Given the description of an element on the screen output the (x, y) to click on. 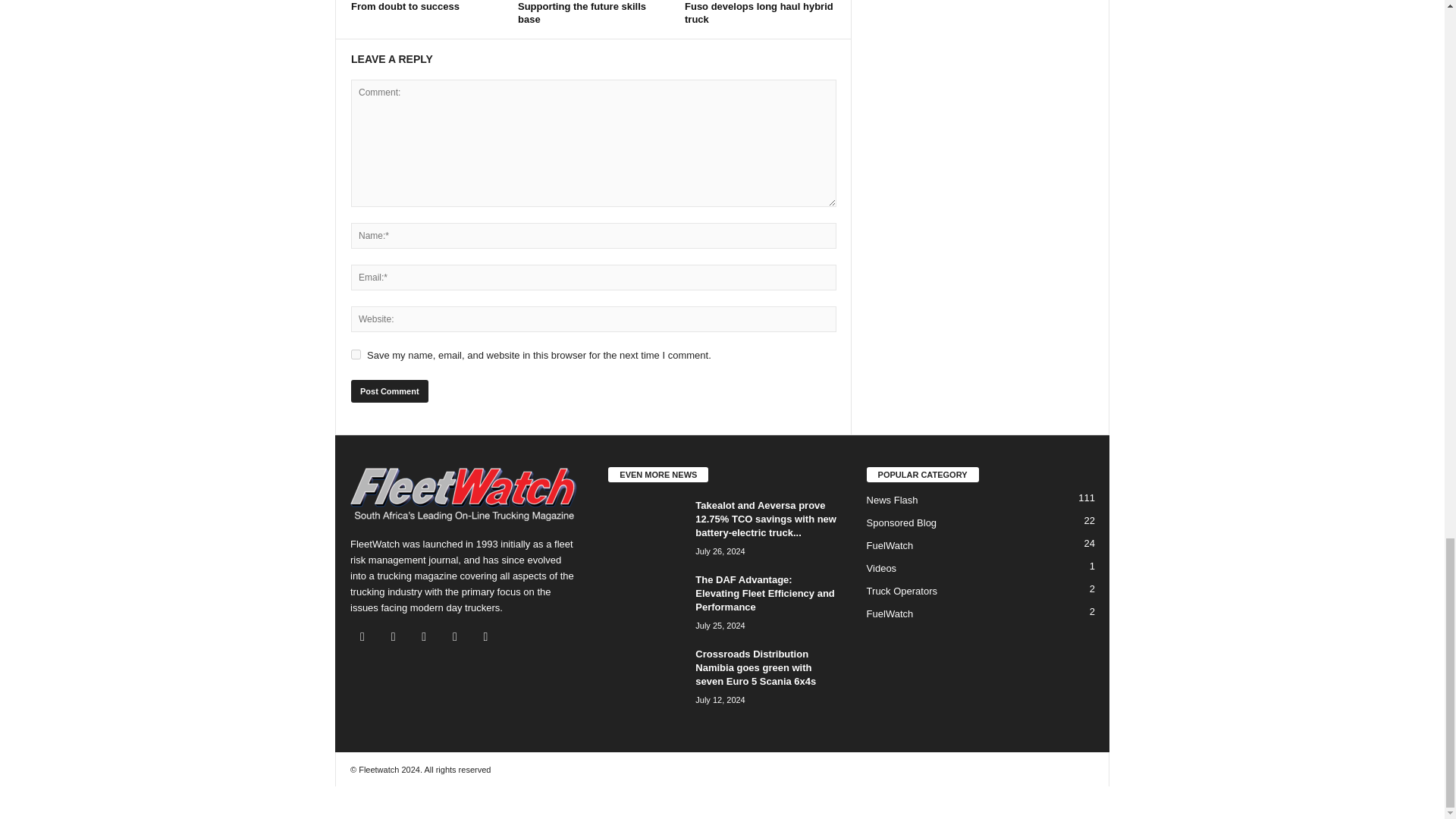
yes (355, 354)
Post Comment (389, 391)
